Given the description of an element on the screen output the (x, y) to click on. 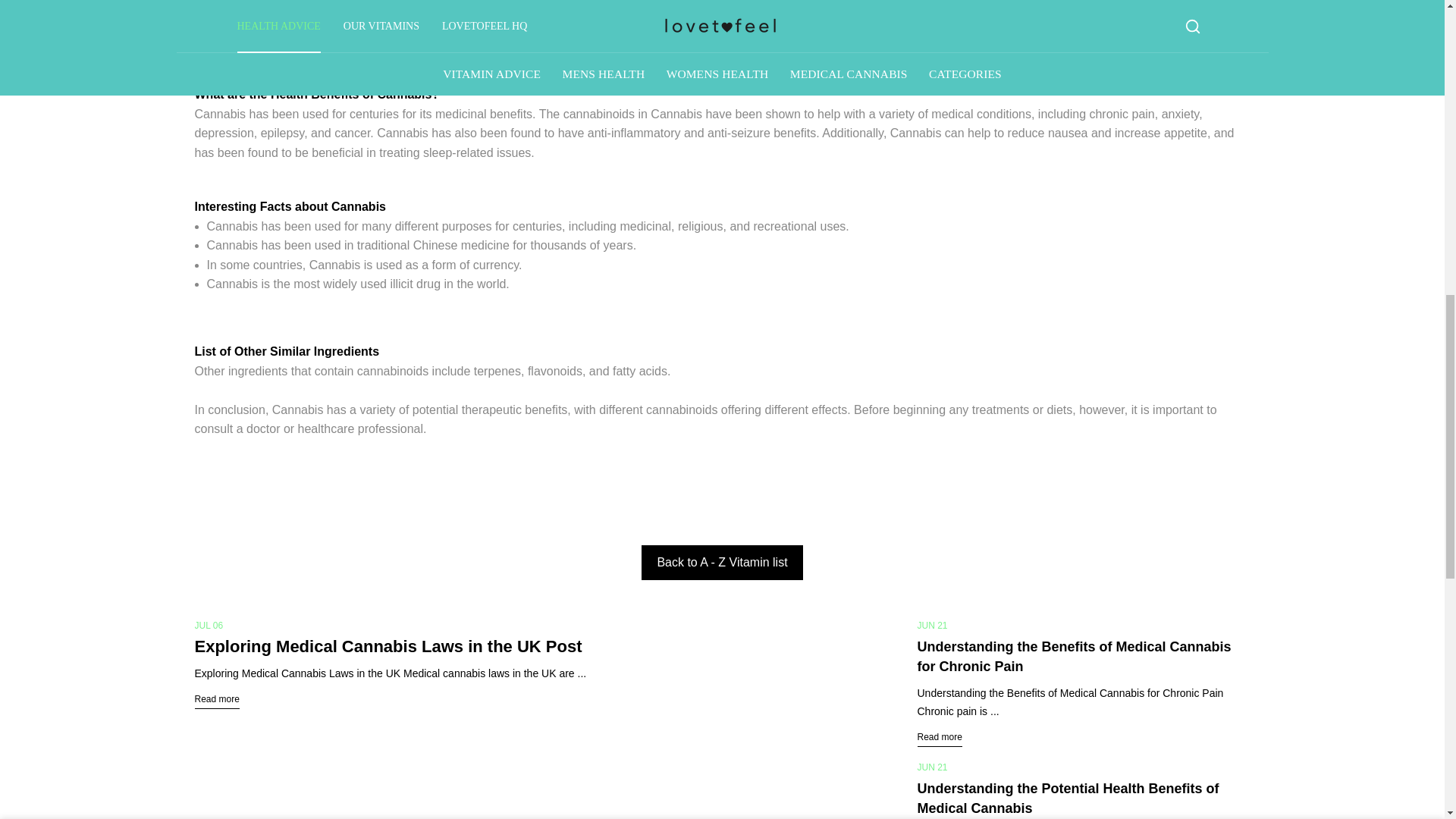
Read more (215, 699)
Back to A - Z Vitamin list (722, 562)
Read more (939, 737)
Exploring Medical Cannabis Laws in the UK Post (386, 646)
